Given the description of an element on the screen output the (x, y) to click on. 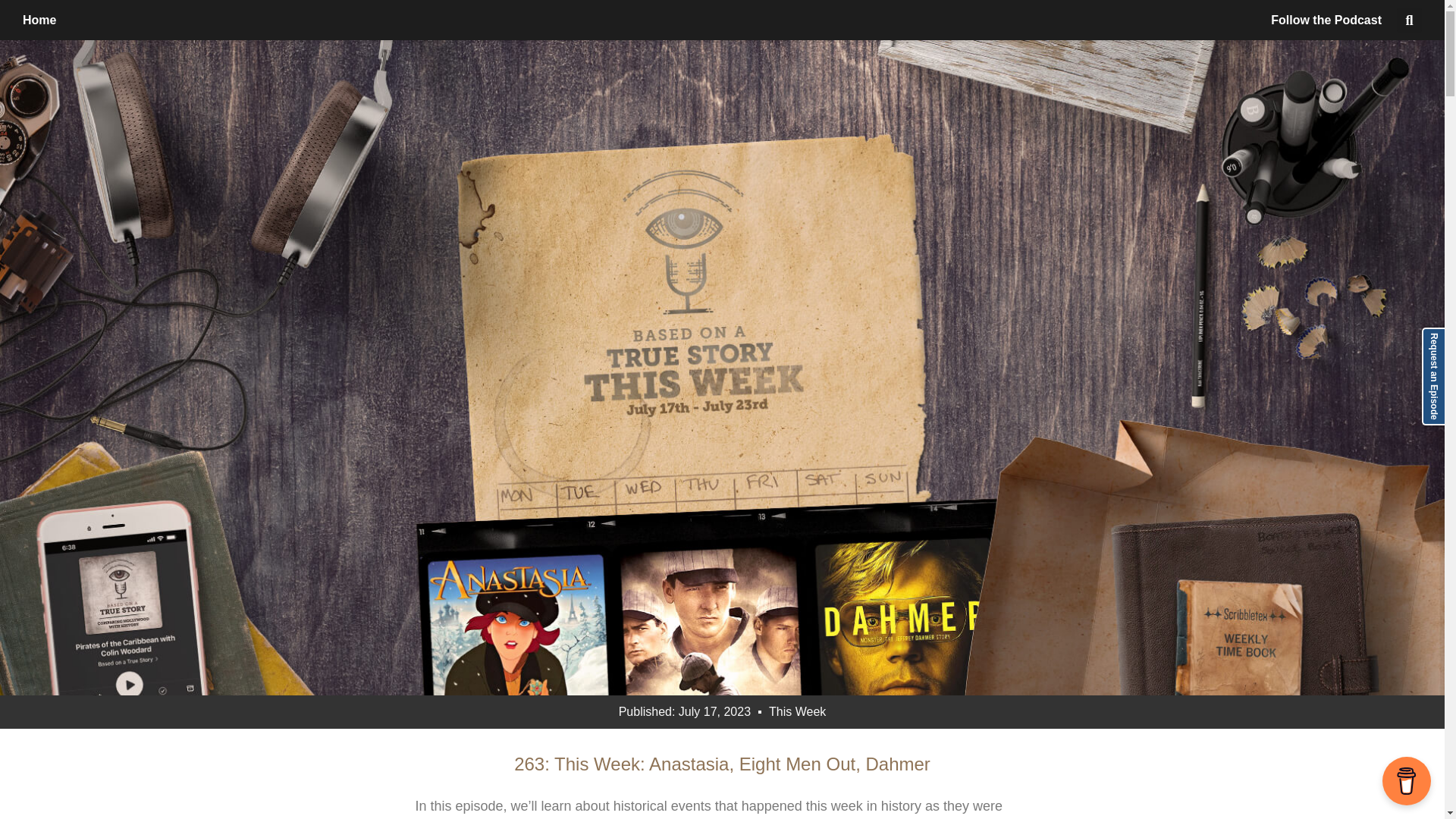
Published: July 17, 2023 (684, 711)
Follow the Podcast (1326, 19)
This Week (796, 711)
Home (39, 19)
